Given the description of an element on the screen output the (x, y) to click on. 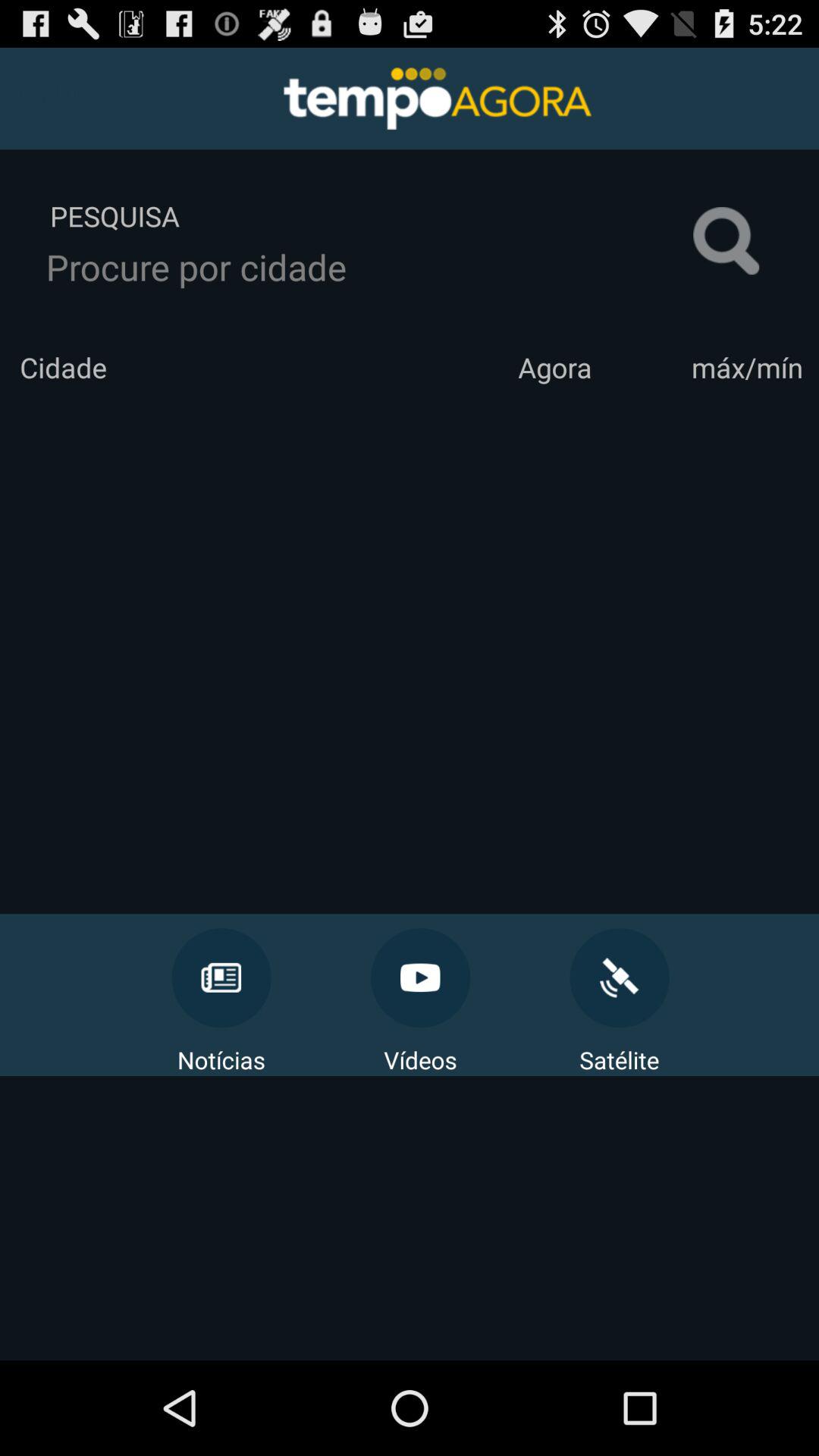
turn off item above the cidade app (369, 266)
